Given the description of an element on the screen output the (x, y) to click on. 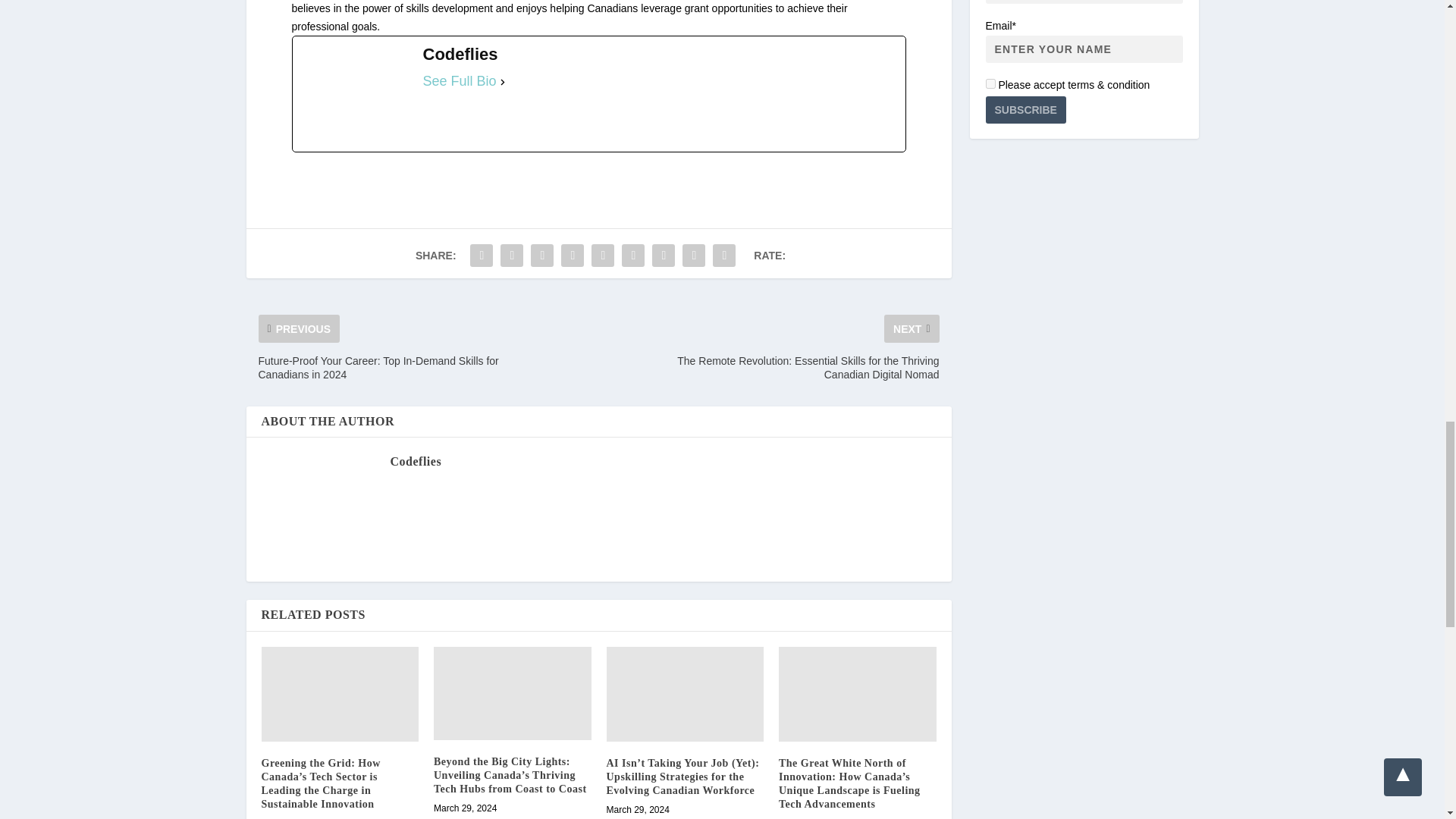
true (990, 83)
See Full Bio (459, 81)
Subscribe (1025, 109)
